Given the description of an element on the screen output the (x, y) to click on. 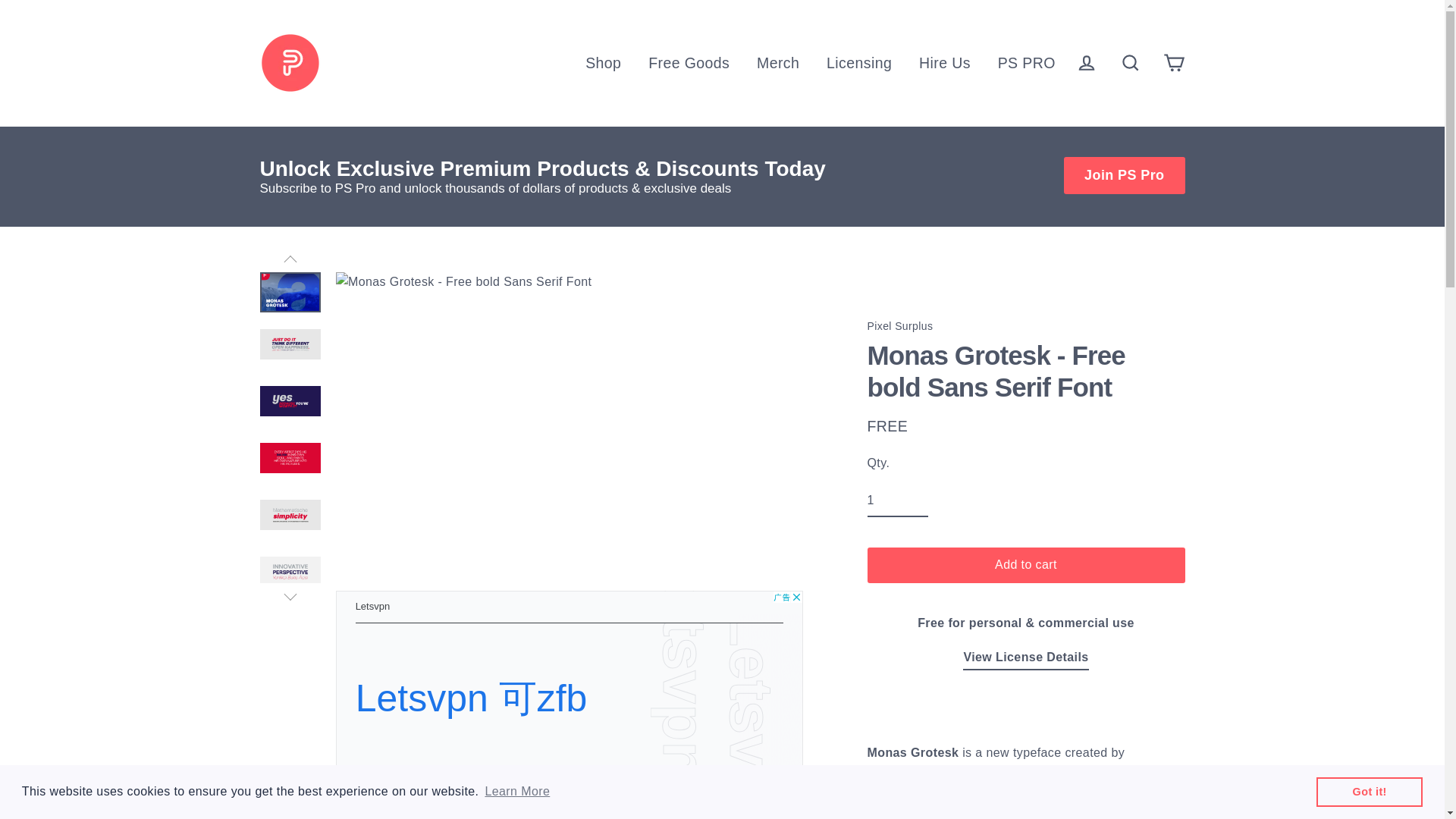
Got it! (1369, 791)
Advertisement (568, 696)
1 (897, 500)
Learn More (516, 791)
Pixel Surplus Licensing (1024, 658)
